Given the description of an element on the screen output the (x, y) to click on. 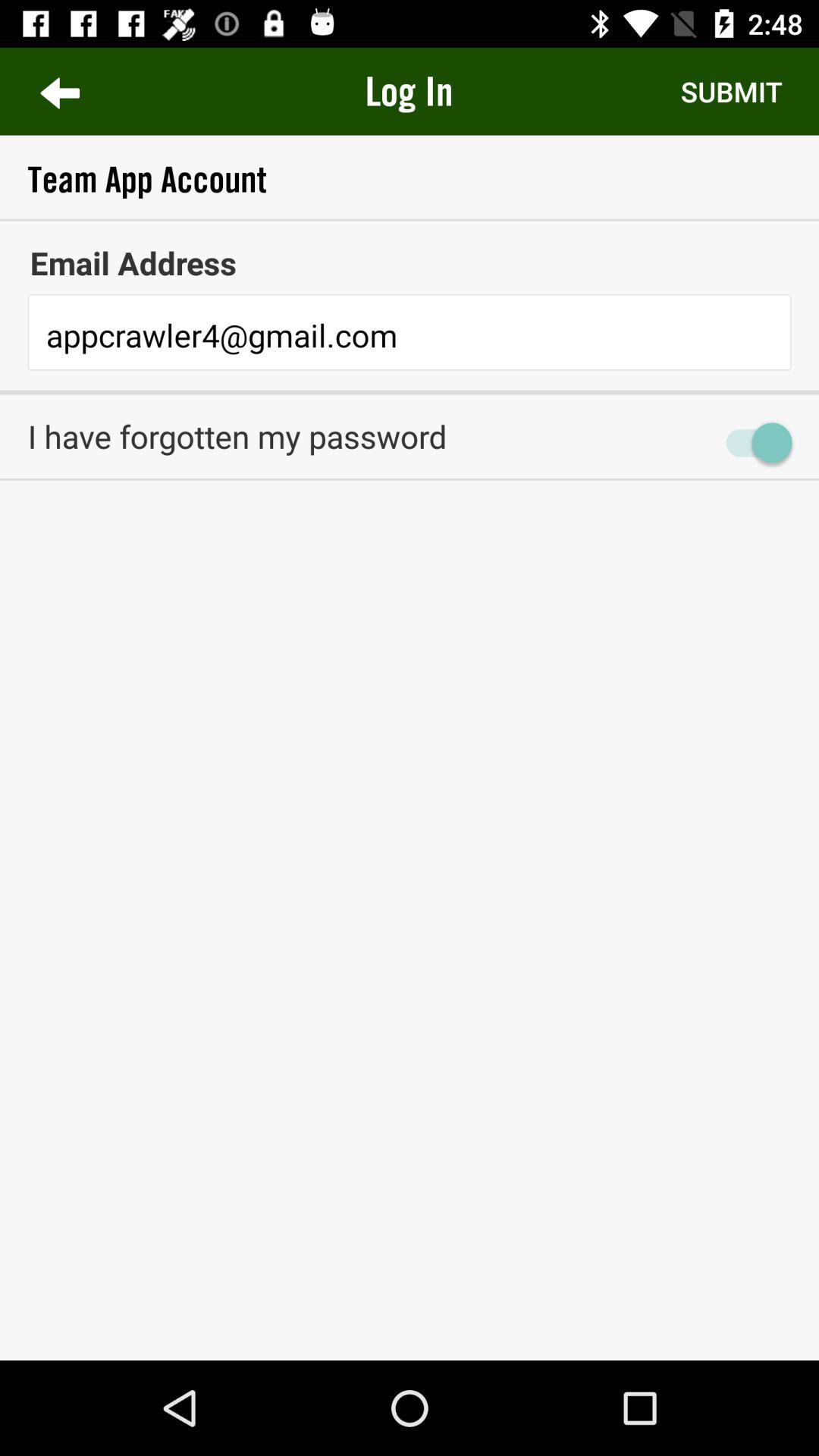
tap the icon next to log in item (59, 91)
